Given the description of an element on the screen output the (x, y) to click on. 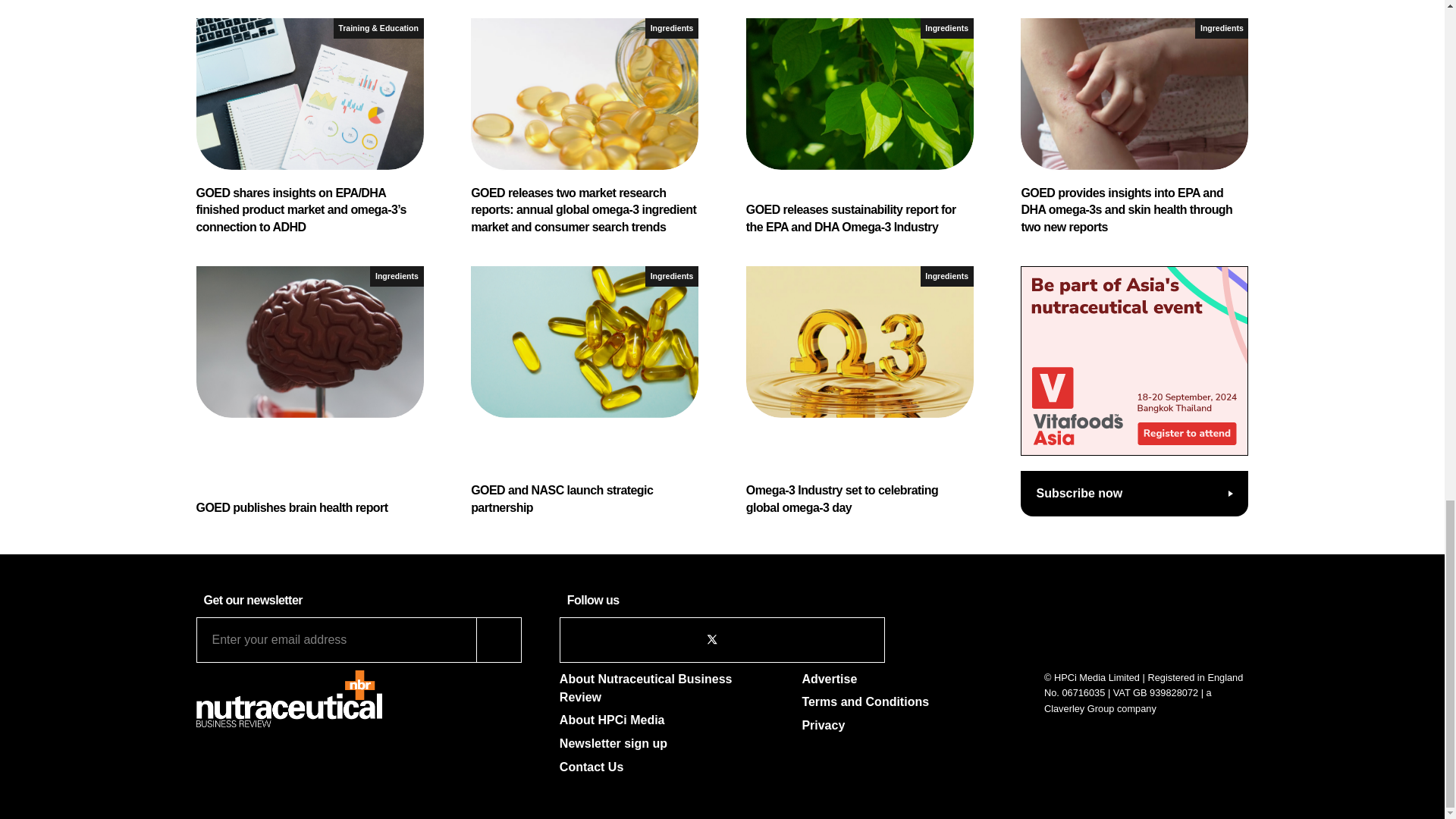
Follow Nutraceutical Business Review on X (711, 638)
GOED publishes brain health report (309, 391)
Ingredients (1221, 28)
Ingredients (947, 276)
Ingredients (671, 28)
Ingredients (396, 276)
GOED and NASC launch strategic partnership (584, 391)
Omega-3 Industry set to celebrating global omega-3 day (859, 391)
Ingredients (671, 276)
Ingredients (947, 28)
